Given the description of an element on the screen output the (x, y) to click on. 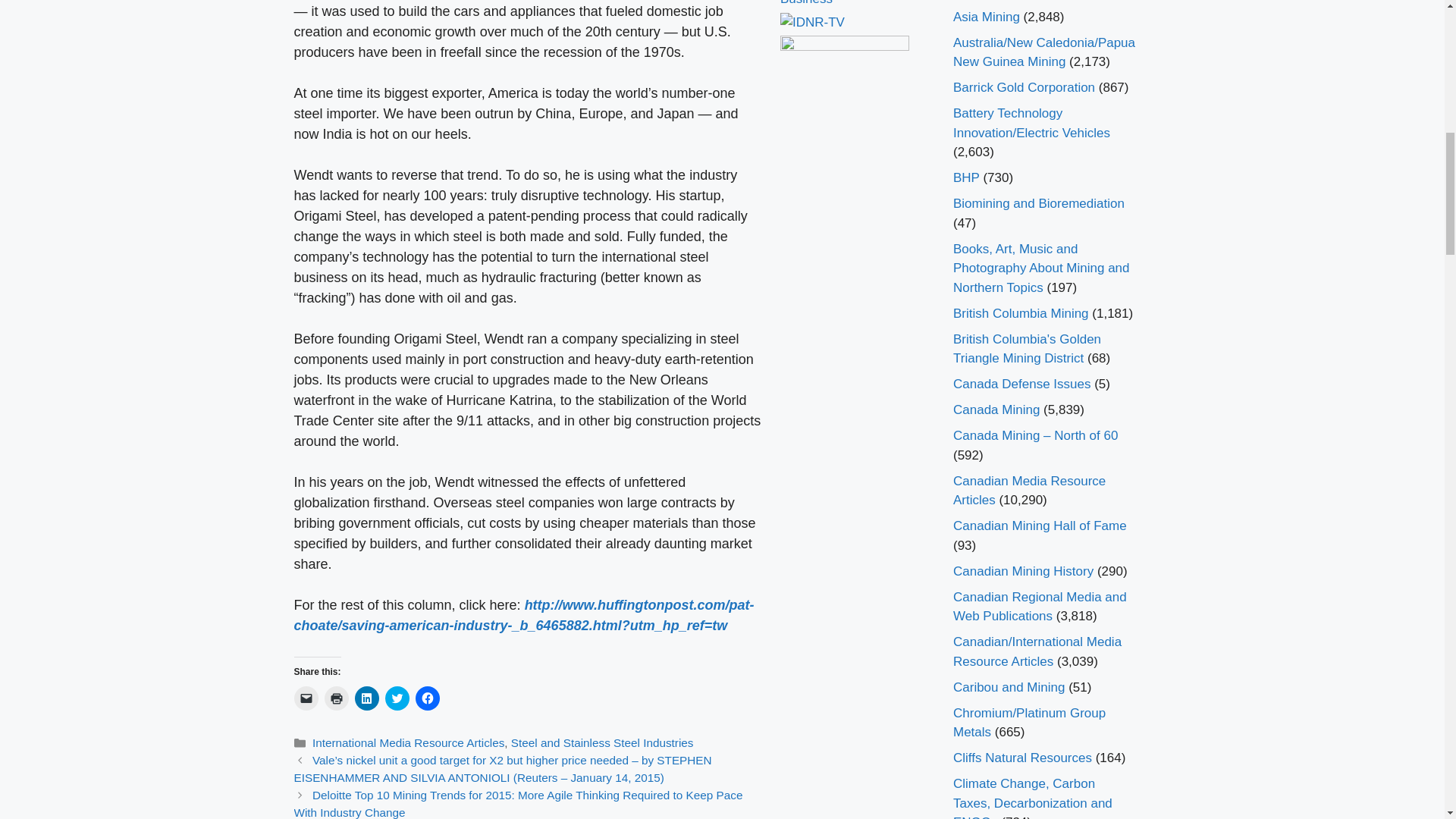
Click to share on Twitter (397, 698)
Scroll back to top (1406, 720)
Click to email a link to a friend (306, 698)
Click to share on LinkedIn (366, 698)
Click to share on Facebook (426, 698)
Click to print (336, 698)
